Given the description of an element on the screen output the (x, y) to click on. 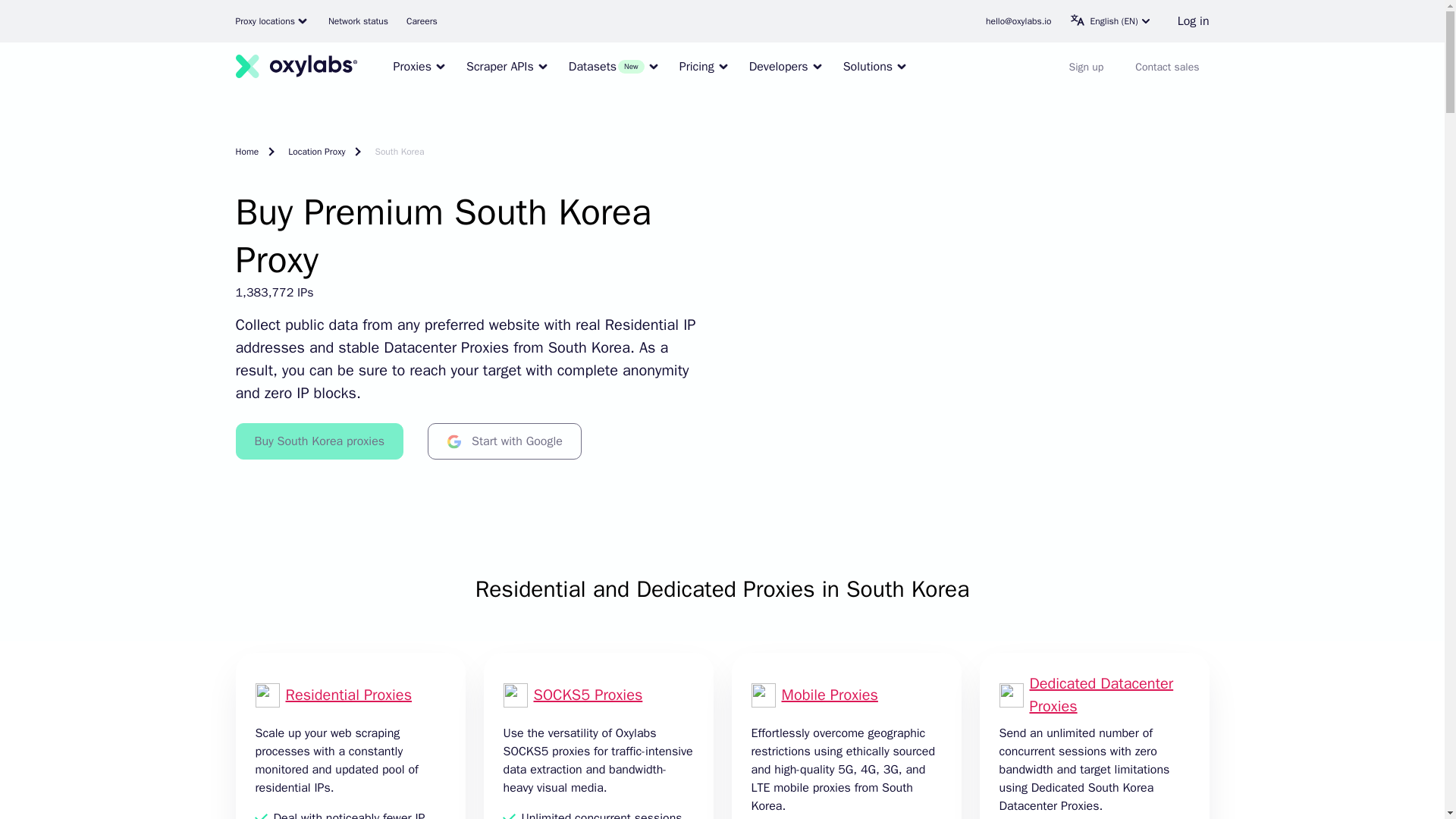
Buy South Korea proxies (318, 441)
Sign up (1085, 66)
Log in (1193, 21)
SOCKS5 Proxies (588, 694)
Start with Google (504, 441)
Residential Proxies (348, 694)
Dedicated Datacenter Proxies (1101, 693)
Contact sales (1166, 66)
Network status (358, 20)
Home (255, 151)
Location Proxy (319, 151)
Careers (422, 20)
Mobile Proxies (828, 694)
